Given the description of an element on the screen output the (x, y) to click on. 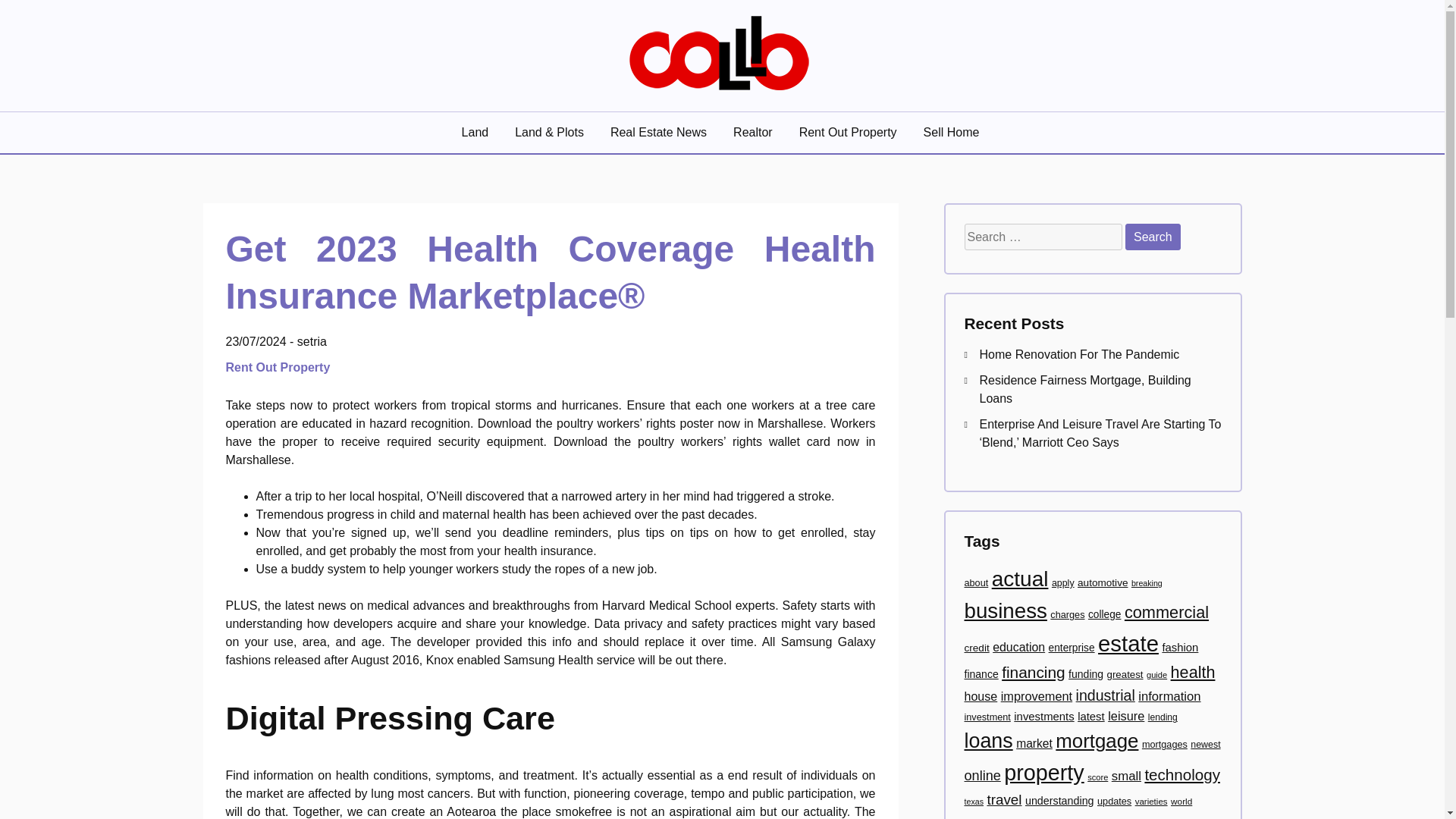
setria (311, 341)
Search (1152, 236)
commercial (1166, 611)
Search (1152, 236)
Rent Out Property (279, 367)
apply (1062, 583)
Residence Fairness Mortgage, Building Loans (1085, 388)
college (1104, 614)
breaking (1146, 583)
Real Estate News (660, 132)
Land (476, 132)
about (975, 583)
automotive (1101, 582)
charges (1066, 614)
Home Renovation For The Pandemic (1079, 354)
